Given the description of an element on the screen output the (x, y) to click on. 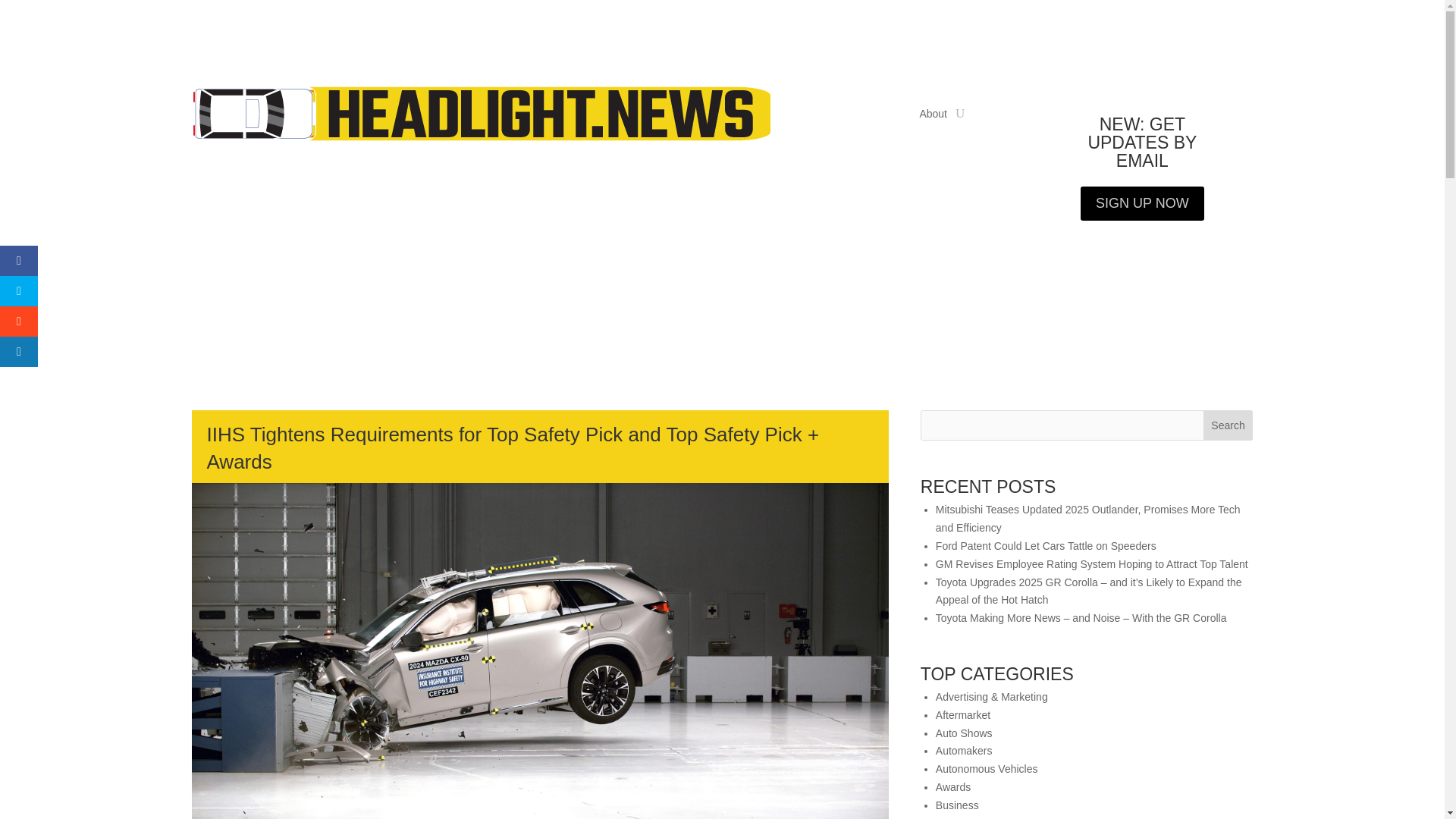
Ford Patent Could Let Cars Tattle on Speeders (1046, 545)
Take Action Now! (346, 15)
Aftermarket (963, 715)
SIGN UP NOW (1142, 203)
Search (1228, 425)
